Given the description of an element on the screen output the (x, y) to click on. 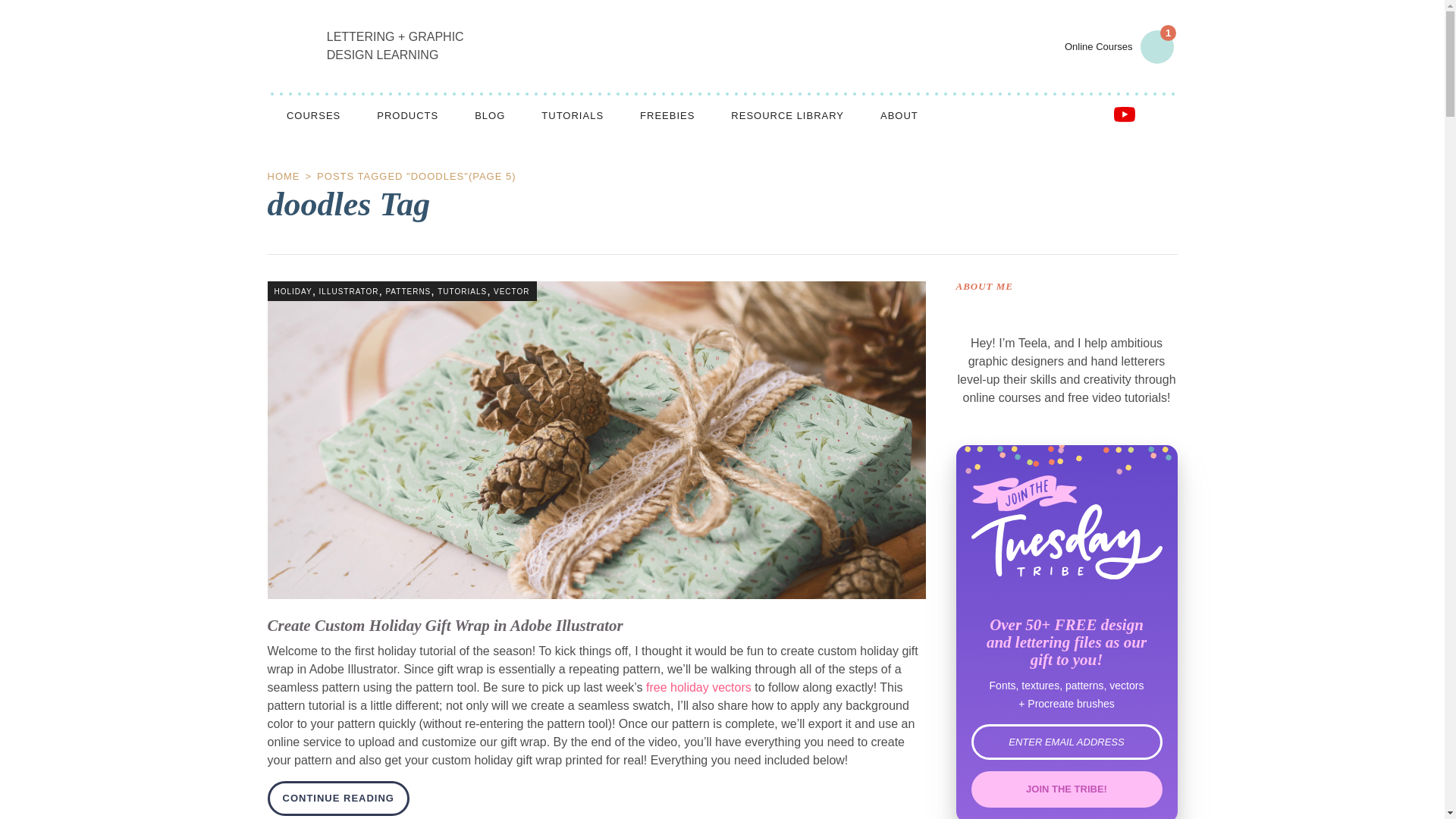
BLOG (489, 114)
Products (407, 114)
PRODUCTS (407, 114)
Resource Library (787, 114)
TUTORIALS (571, 114)
FREEBIES (667, 114)
ABOUT (898, 114)
COURSES (312, 114)
Freebies (667, 114)
About (898, 114)
Tutorials (571, 114)
RESOURCE LIBRARY (787, 114)
Courses (312, 114)
Blog (489, 114)
